Given the description of an element on the screen output the (x, y) to click on. 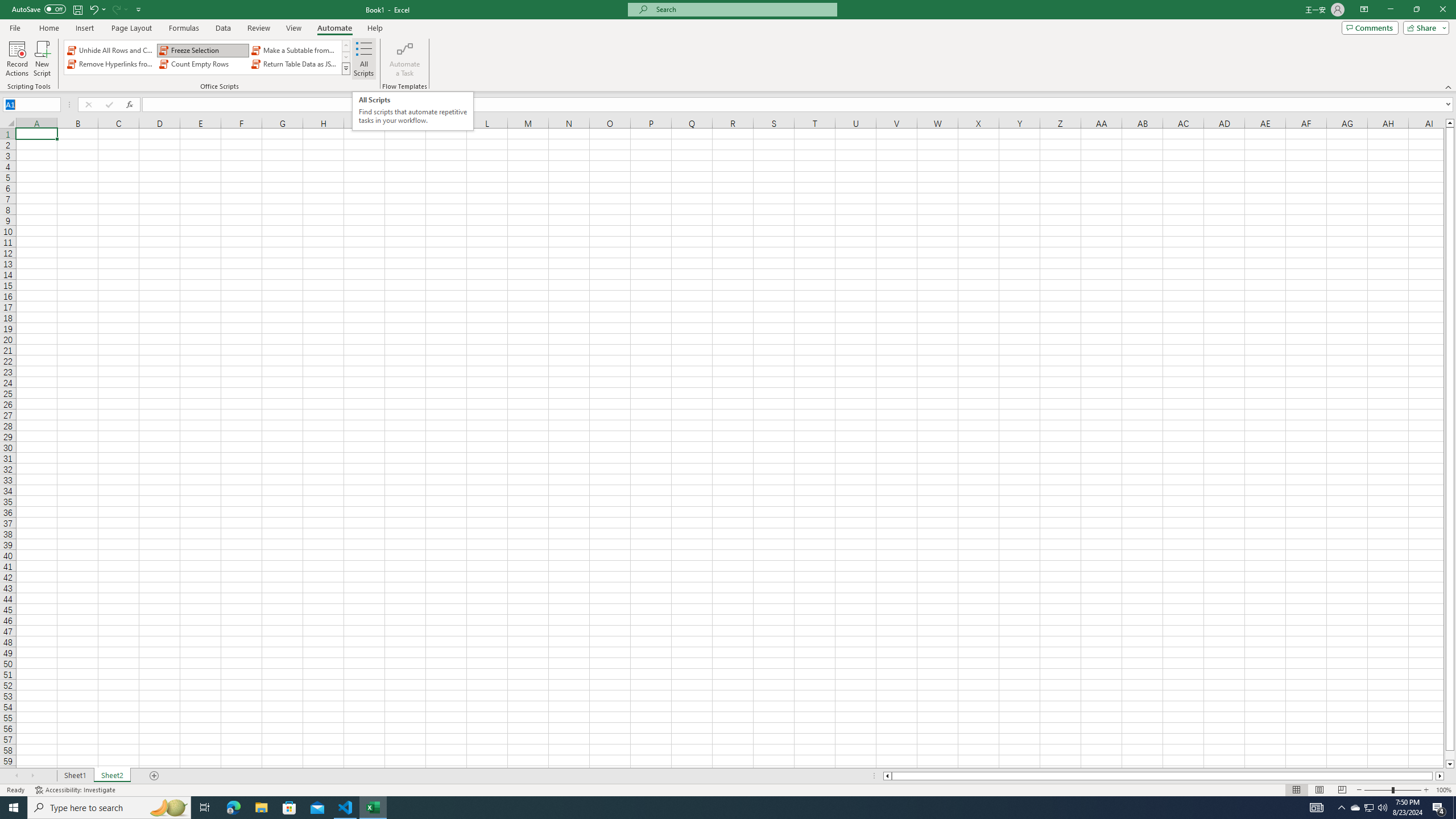
Formula Bar (799, 104)
Ribbon Display Options (1364, 9)
Minimize (1390, 9)
Automate (334, 28)
Review (258, 28)
Customize Quick Access Toolbar (139, 9)
Page down (1449, 755)
Accessibility Checker Accessibility: Investigate (76, 790)
Unhide All Rows and Columns (111, 50)
Sheet2 (112, 775)
Line up (1449, 122)
Class: NetUIImage (345, 68)
